Given the description of an element on the screen output the (x, y) to click on. 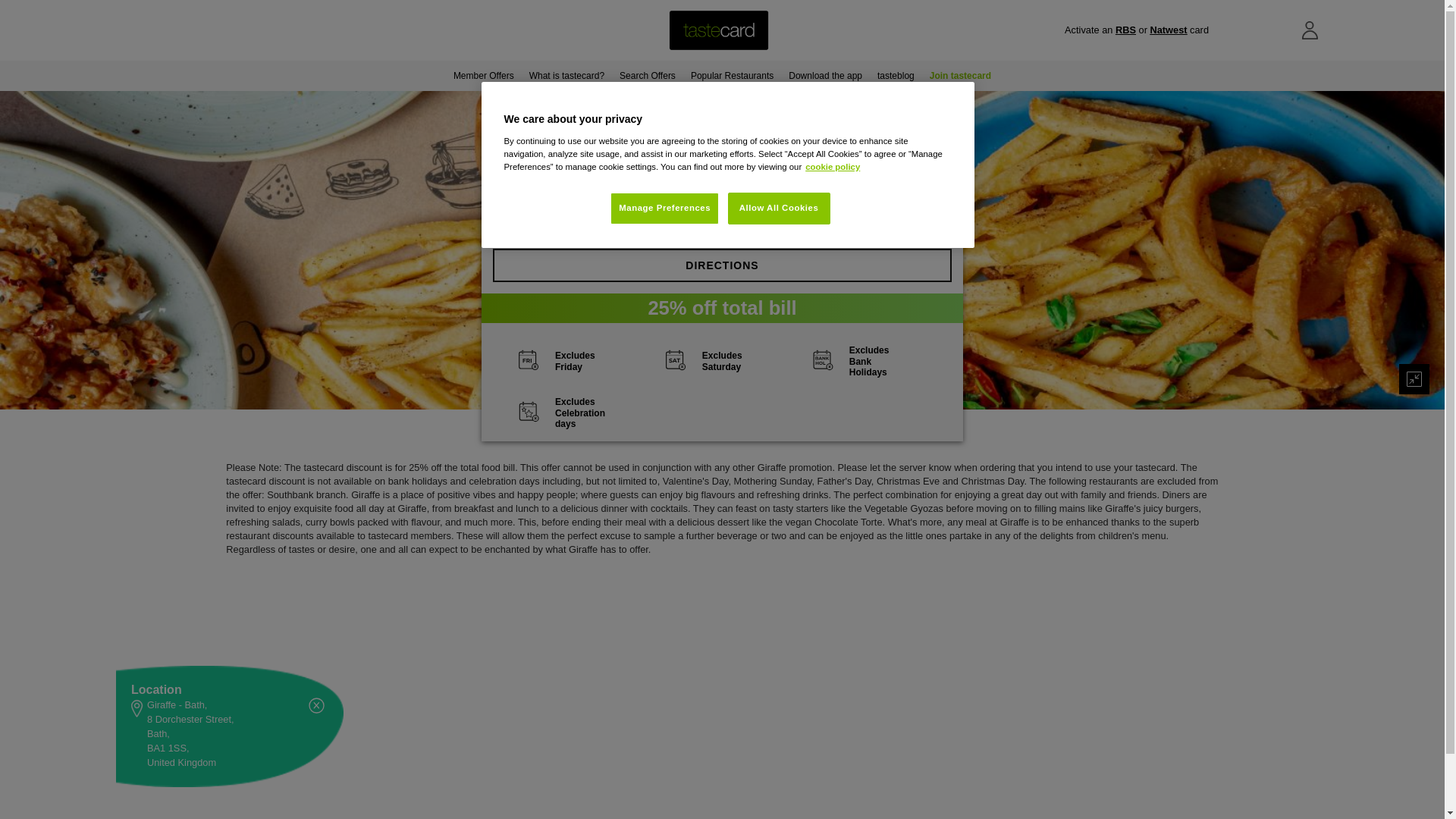
Natwest (1168, 30)
Member Offers (483, 75)
What is tastecard? (566, 75)
Search Offers (646, 75)
Popular Restaurants (731, 75)
RBS (1125, 30)
